Given the description of an element on the screen output the (x, y) to click on. 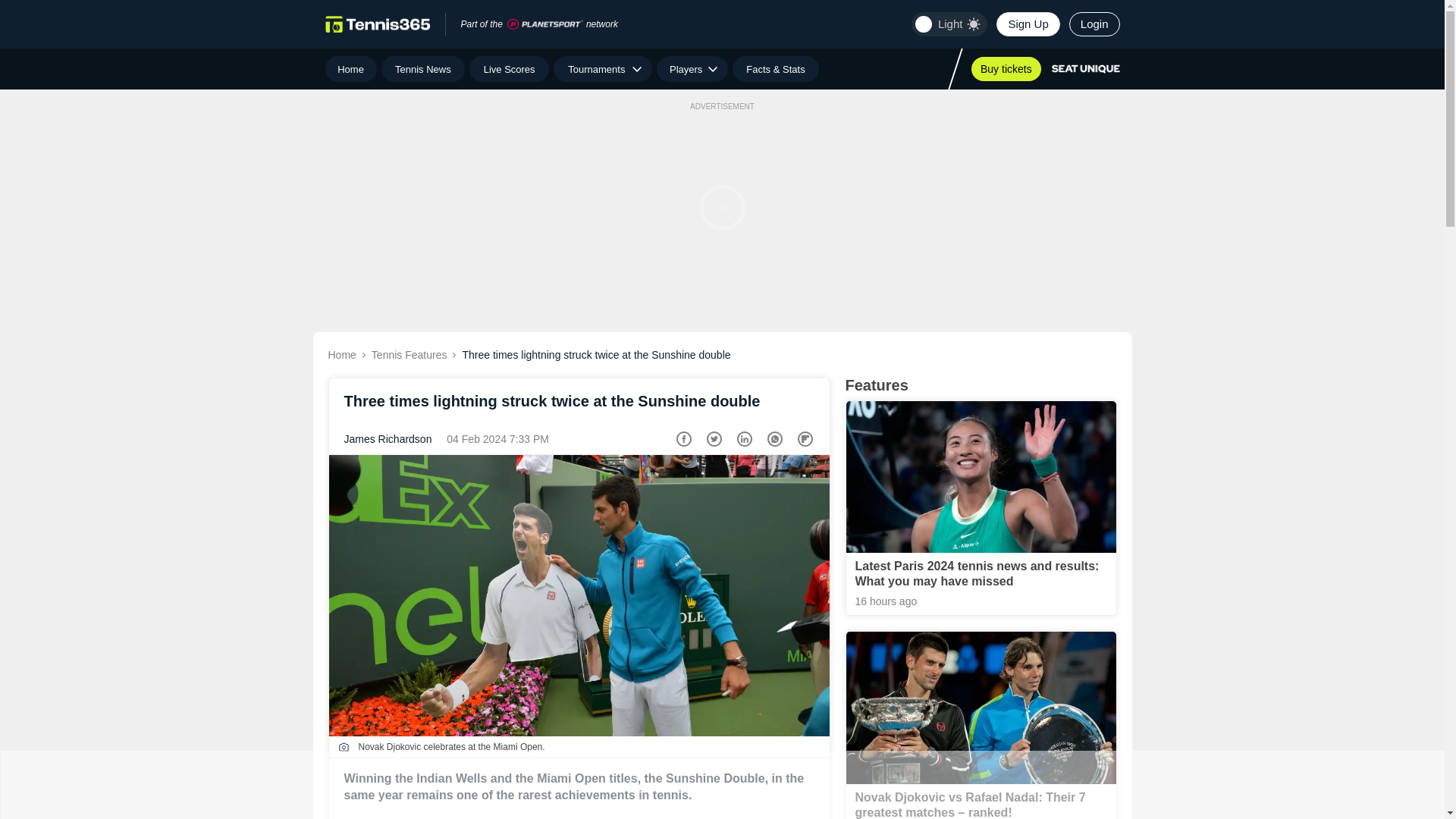
Tournaments (601, 68)
Login (1093, 24)
Tennis News (423, 68)
Sign Up (1027, 24)
Home (349, 68)
Players (692, 68)
Live Scores (508, 68)
Buy tickets (1006, 68)
3rd party ad content (721, 785)
